Given the description of an element on the screen output the (x, y) to click on. 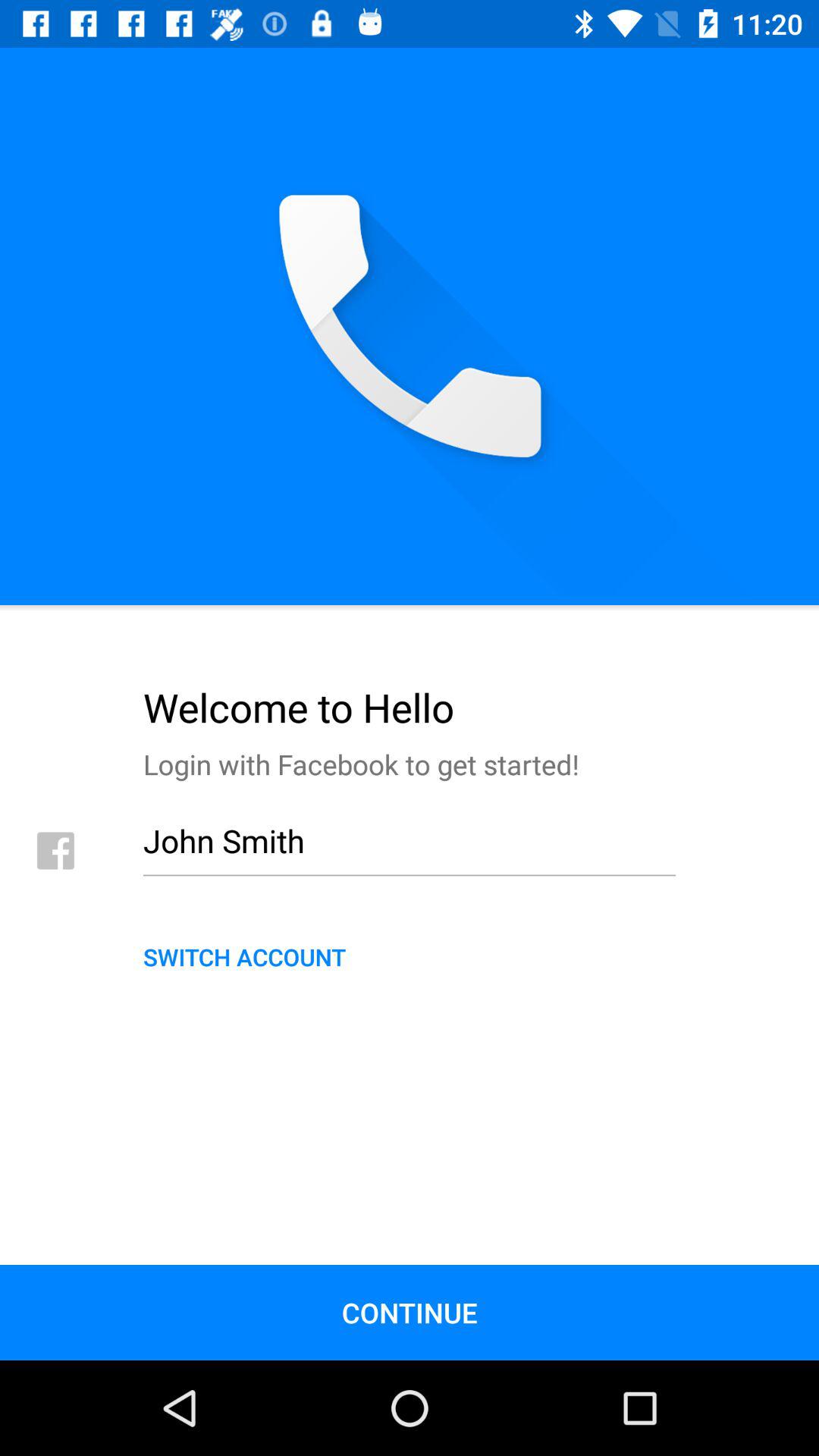
choose the switch account item (409, 956)
